Given the description of an element on the screen output the (x, y) to click on. 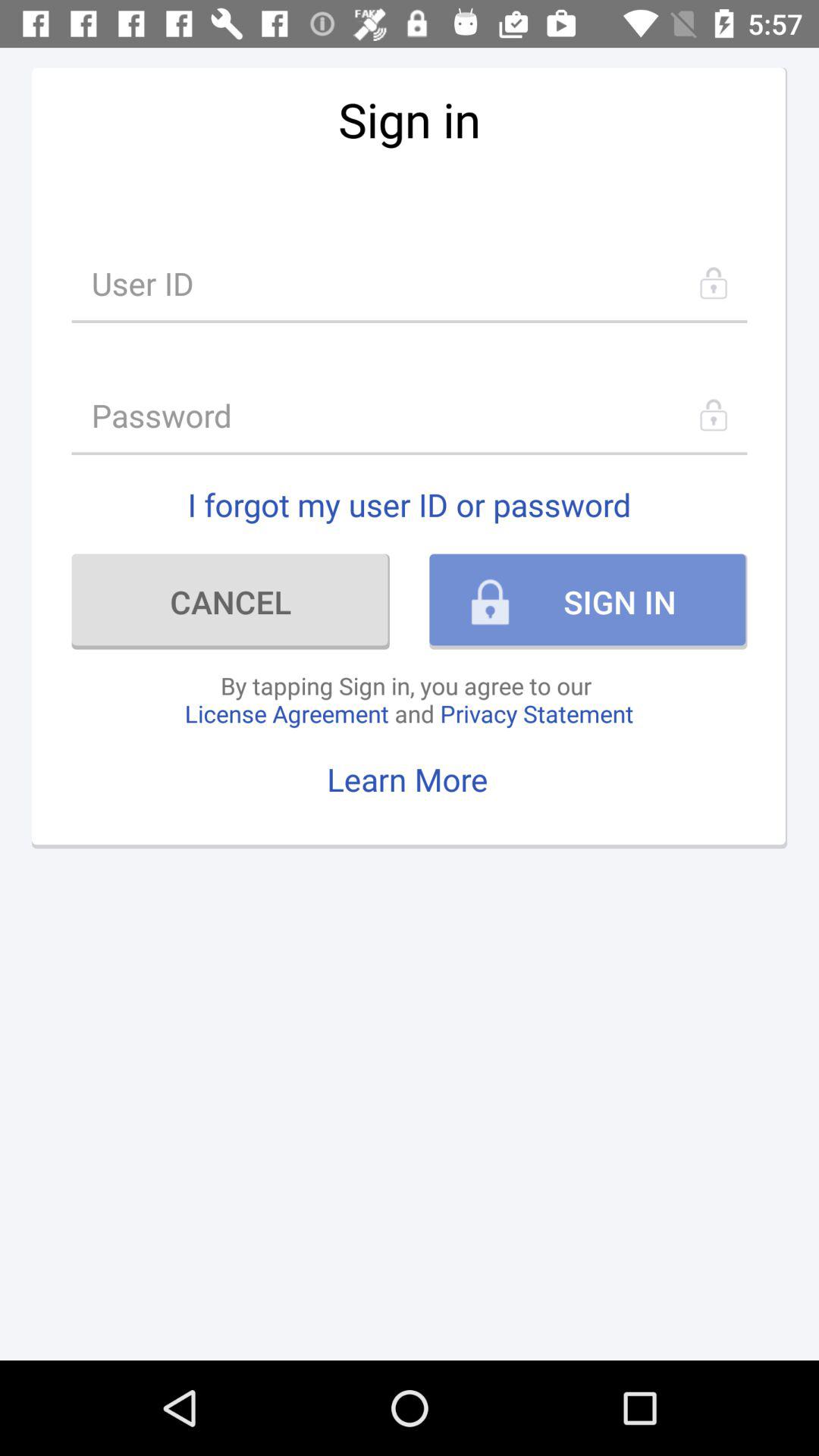
user id tab (409, 283)
